Given the description of an element on the screen output the (x, y) to click on. 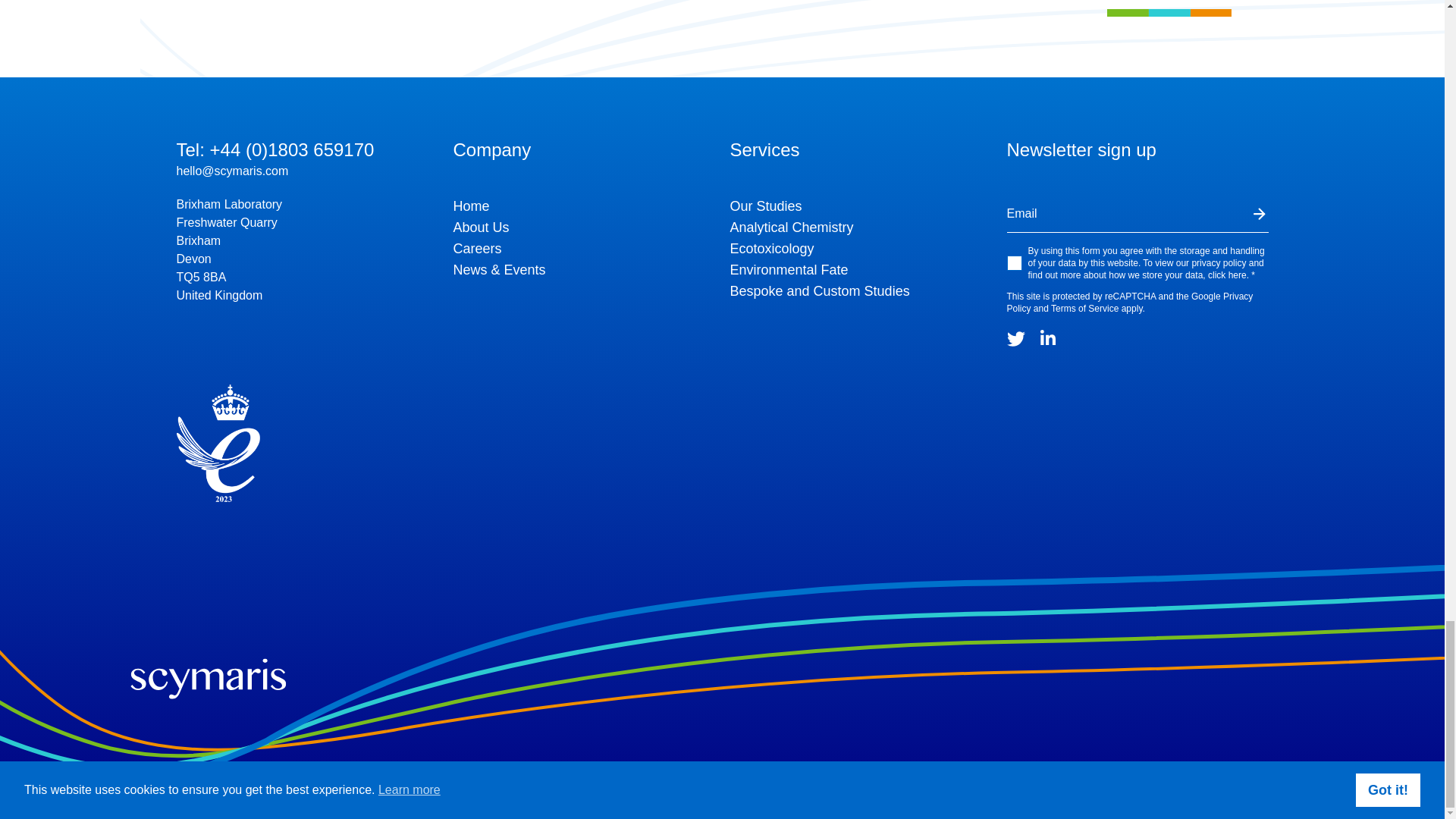
consent (1014, 263)
